Given the description of an element on the screen output the (x, y) to click on. 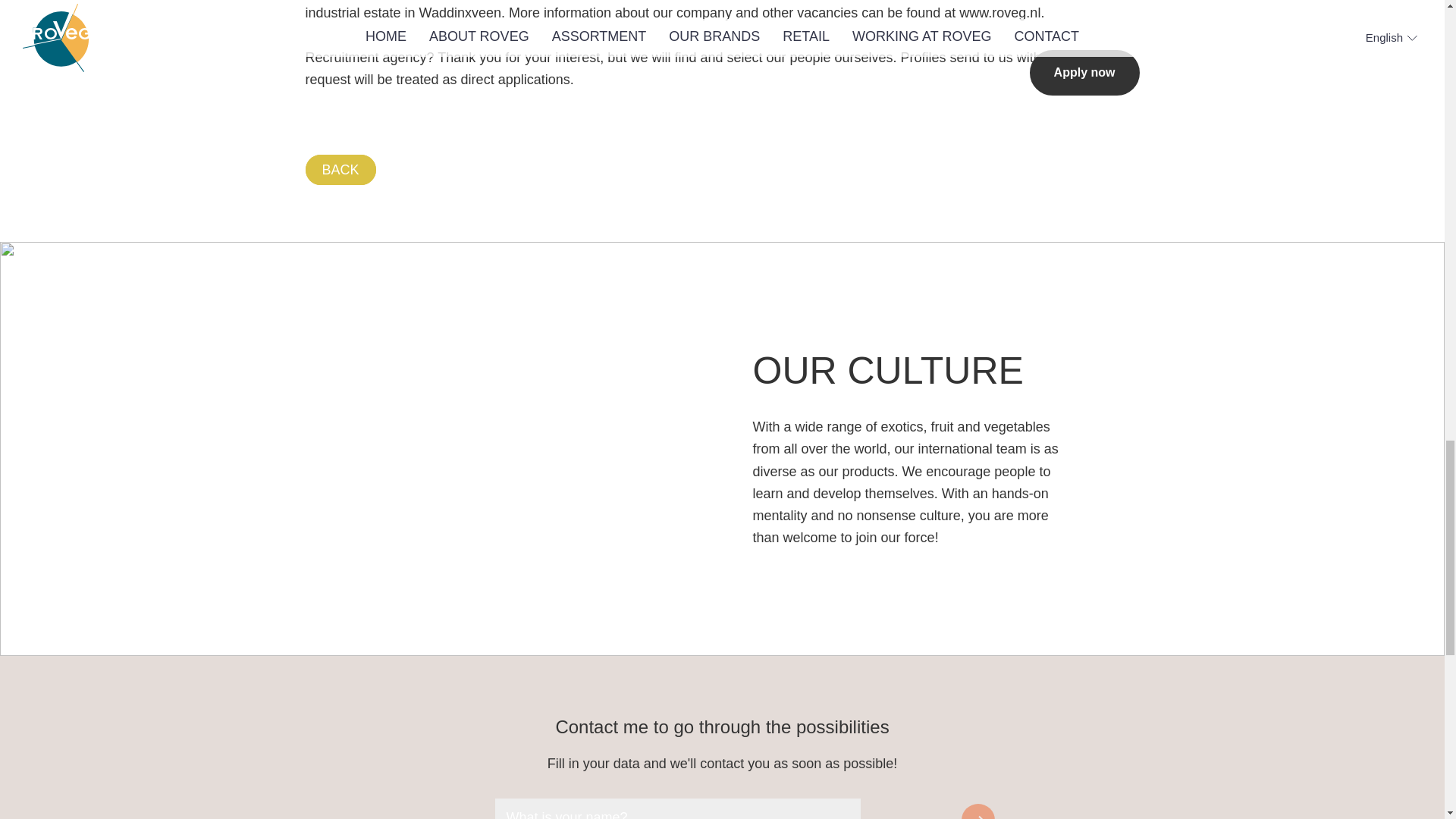
BACK (339, 169)
Verzenden (983, 811)
Verzenden (983, 811)
